Given the description of an element on the screen output the (x, y) to click on. 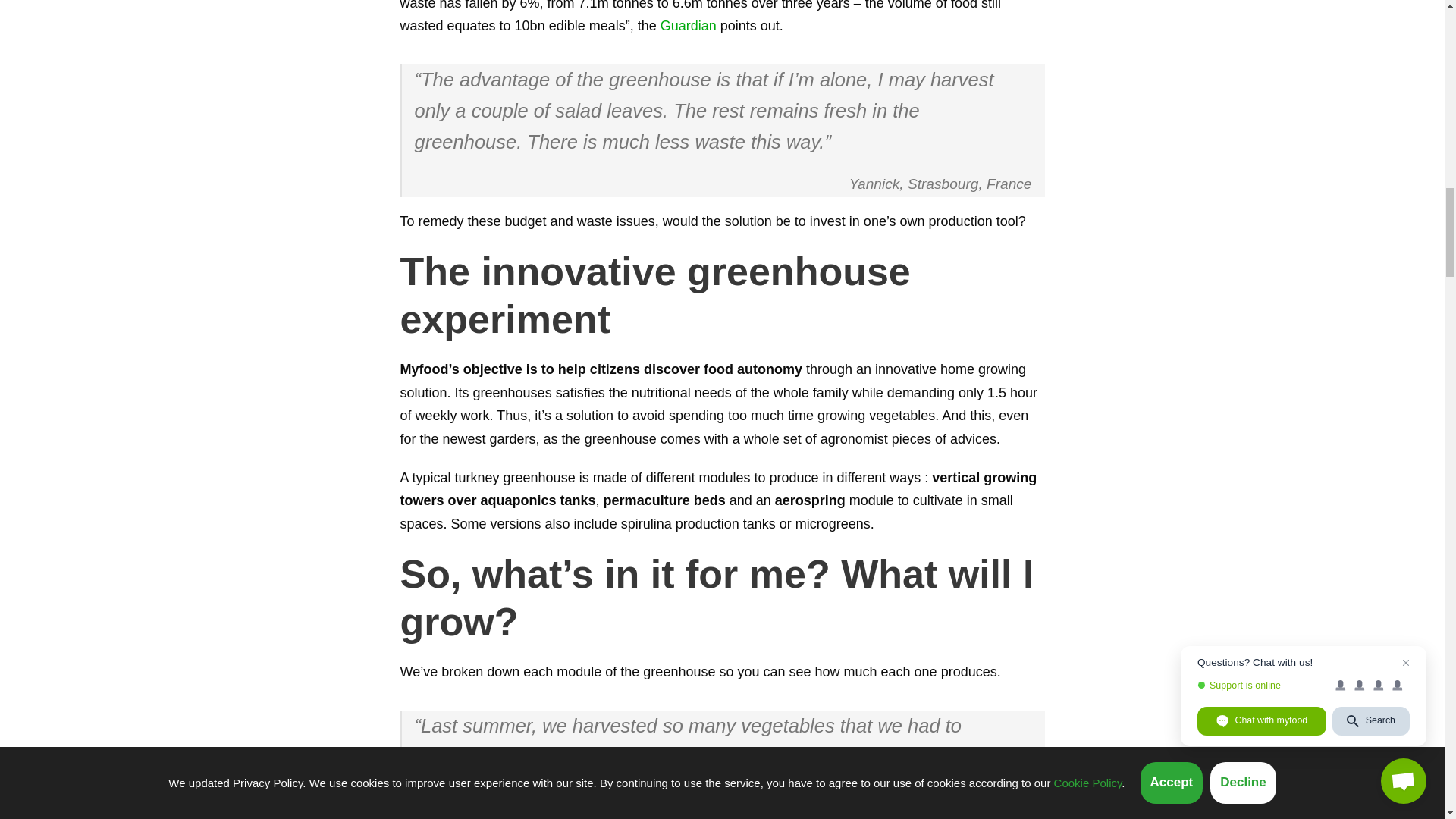
Guardian (688, 25)
